Given the description of an element on the screen output the (x, y) to click on. 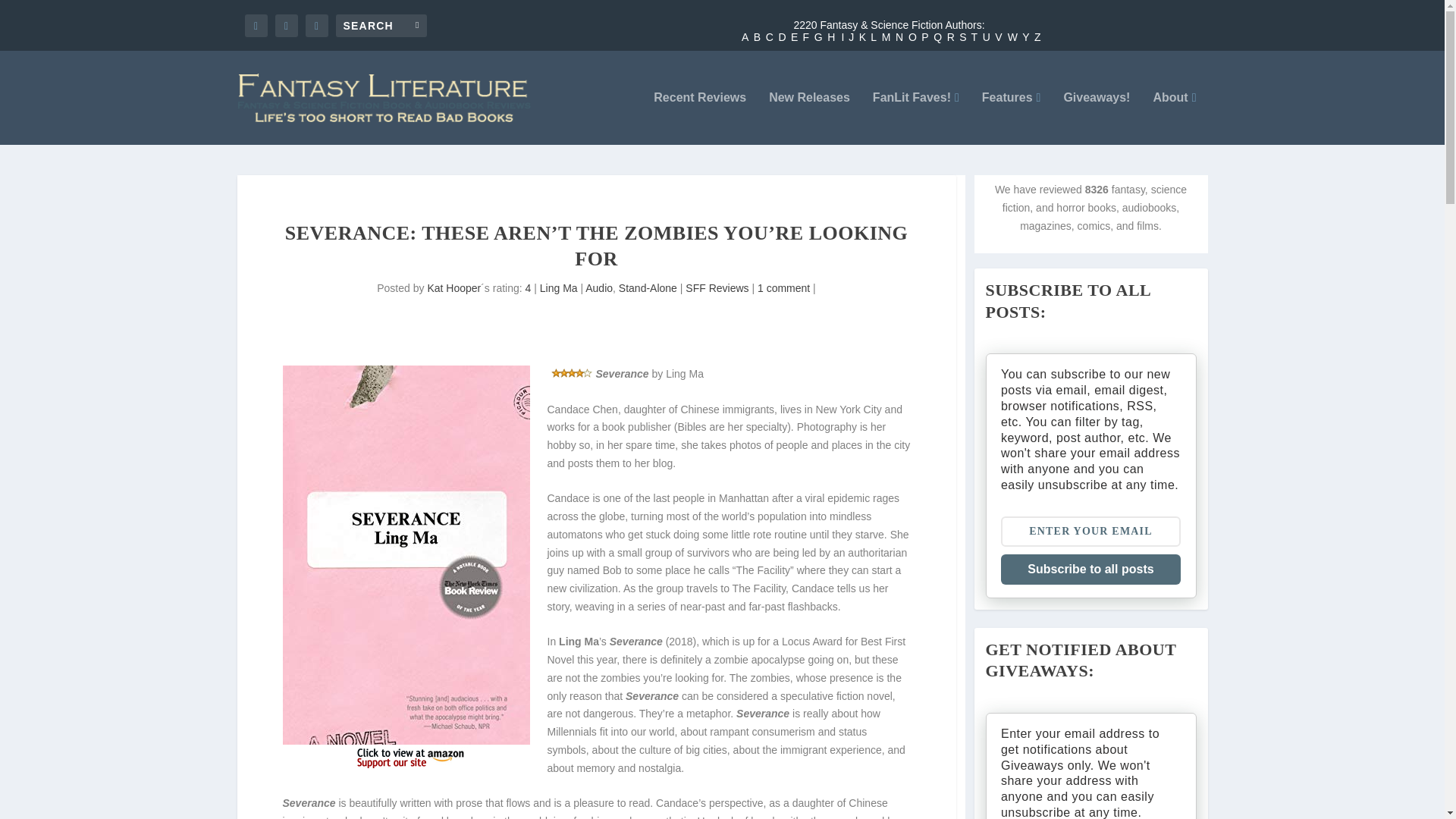
Search for: (380, 24)
FanLit Faves! (915, 117)
Posts by Kat Hooper (453, 287)
